Given the description of an element on the screen output the (x, y) to click on. 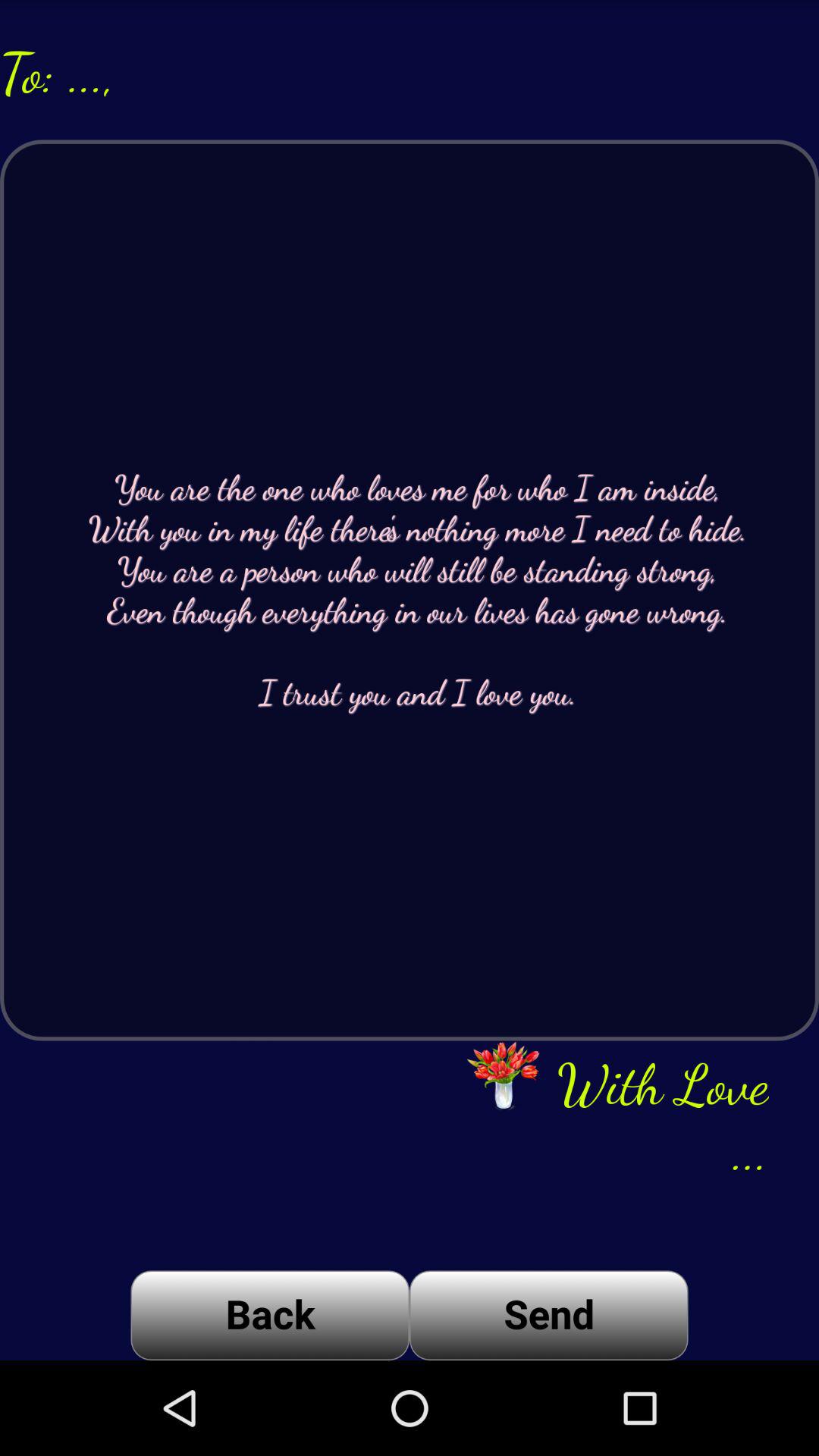
tap the send icon (548, 1315)
